Given the description of an element on the screen output the (x, y) to click on. 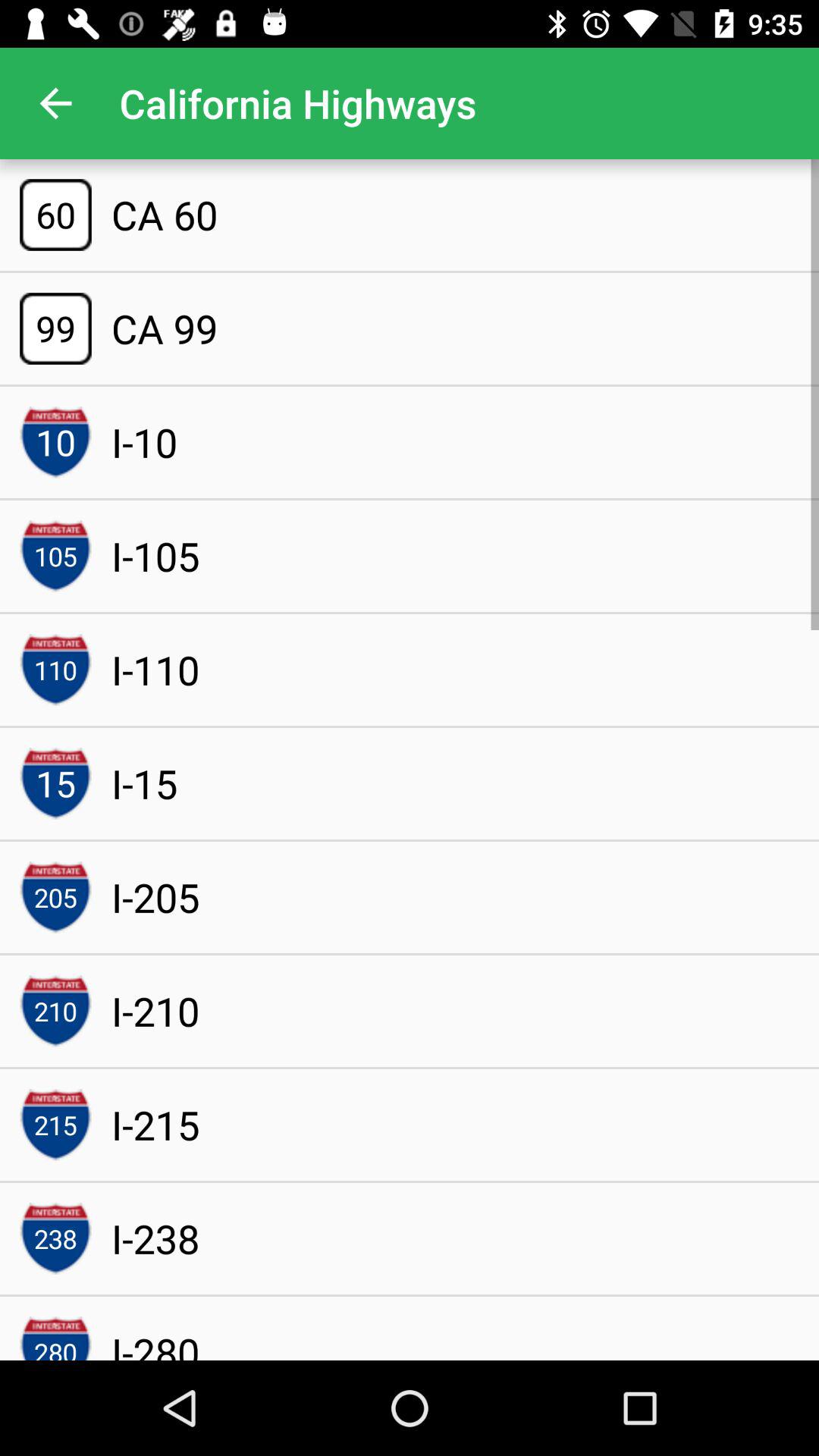
tap app next to california highways (55, 103)
